Given the description of an element on the screen output the (x, y) to click on. 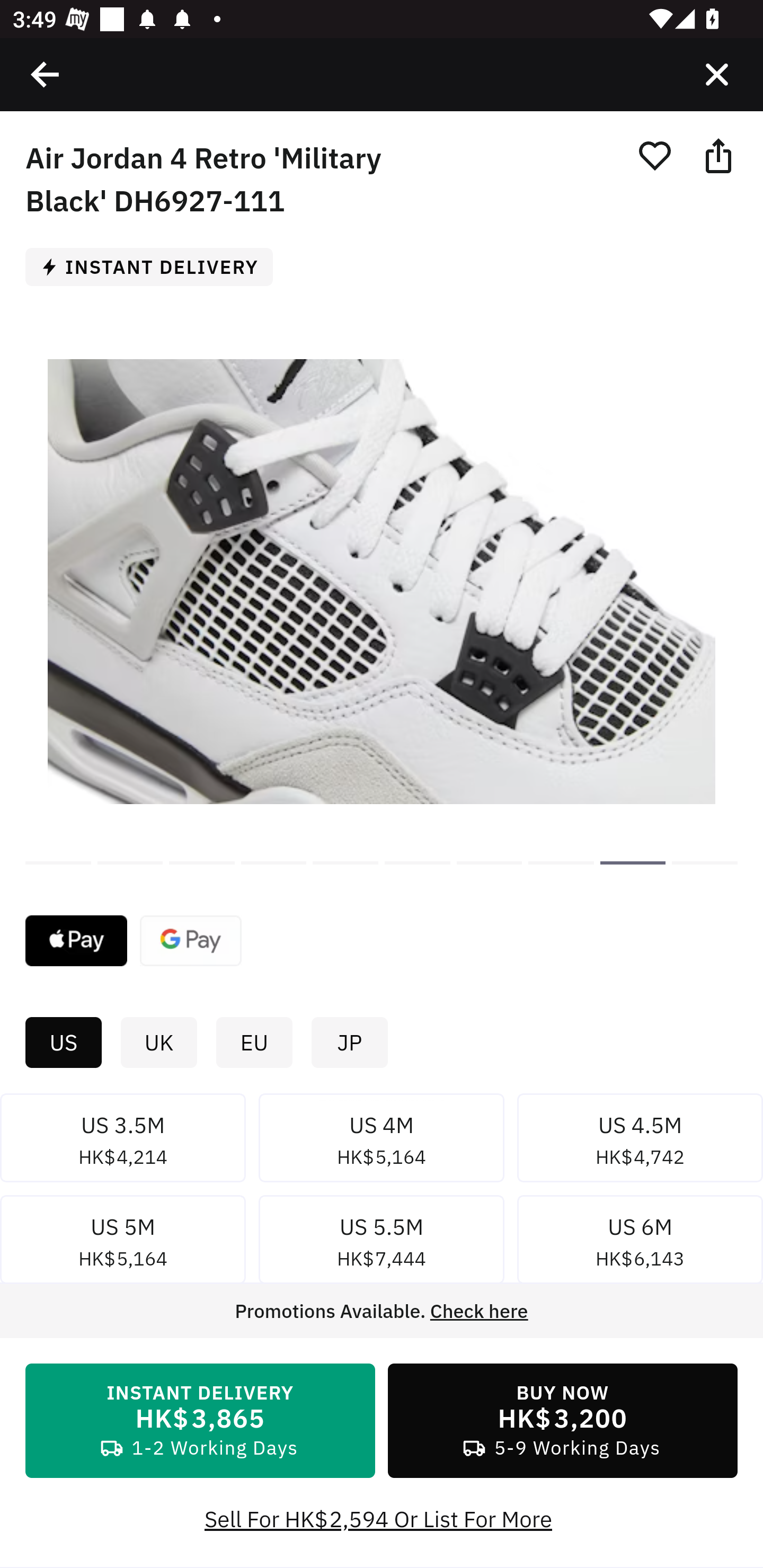
 (46, 74)
 (716, 74)
wishlist (654, 155)
INSTANT DELIVERY (155, 266)
Air Jordan 4 Retro 'Military Black' DH6927‑111 (632, 861)
US (63, 1042)
UK (158, 1042)
EU (253, 1042)
JP (349, 1042)
US 3.5M HK$ 4,214 (122, 1140)
US 4M HK$ 5,164 (381, 1140)
US 4.5M HK$ 4,742 (639, 1140)
US 5M HK$ 5,164 (122, 1242)
US 5.5M HK$ 7,444 (381, 1242)
US 6M HK$ 6,143 (639, 1242)
Promotions Available. Check here (381, 1310)
INSTANT DELIVERY HK$ 3,865 1-2 Working Days (200, 1421)
BUY NOW HK$ 3,200 5-9 Working Days (562, 1421)
Sell For HK$ 2,594 Or List For More (381, 1519)
